Given the description of an element on the screen output the (x, y) to click on. 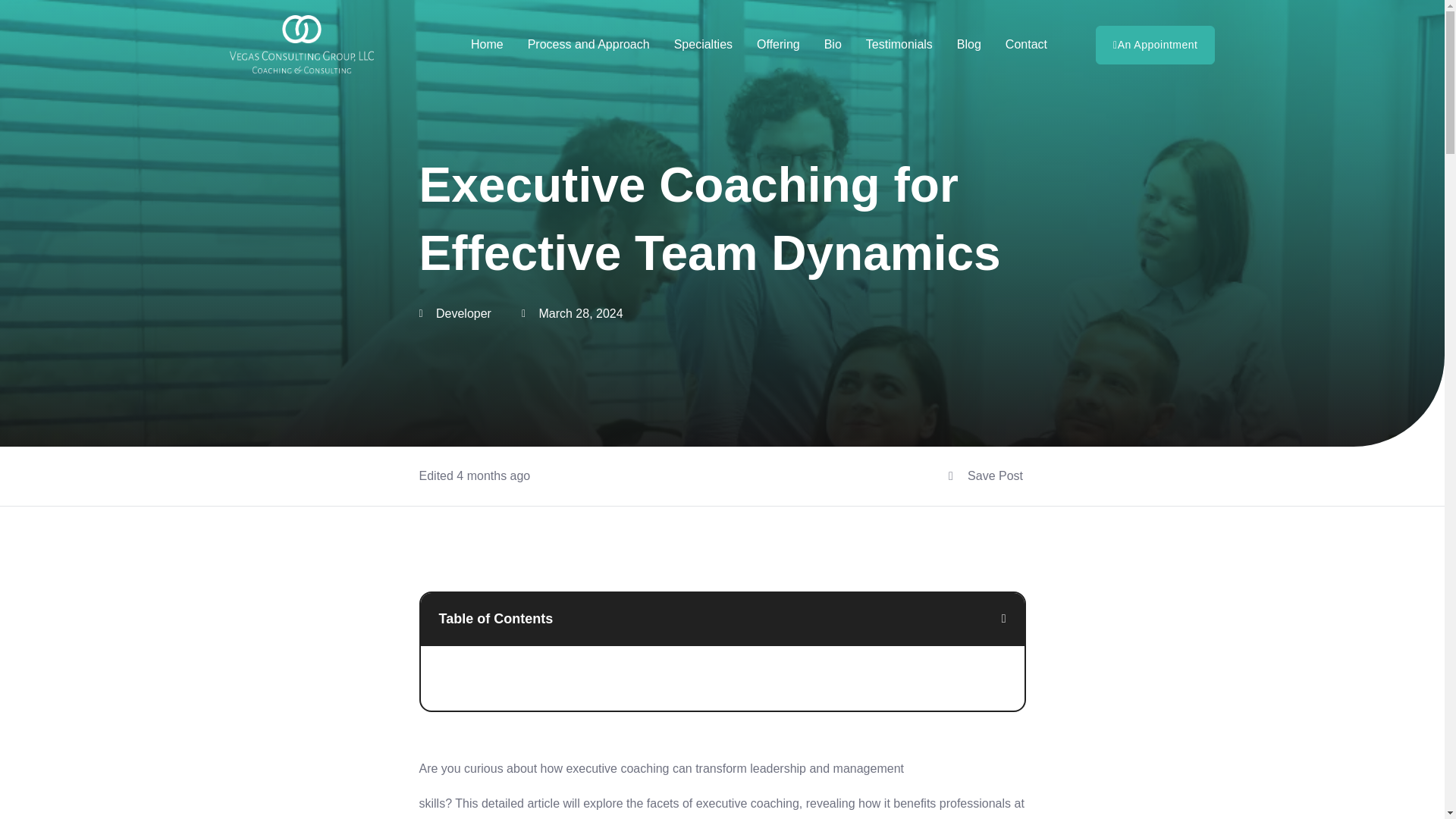
An Appointment (1155, 44)
Testimonials (899, 44)
Home (486, 44)
Offering (778, 44)
Specialties (703, 44)
Contact (1025, 44)
Process and Approach (588, 44)
Blog (968, 44)
Save Post (986, 476)
